Given the description of an element on the screen output the (x, y) to click on. 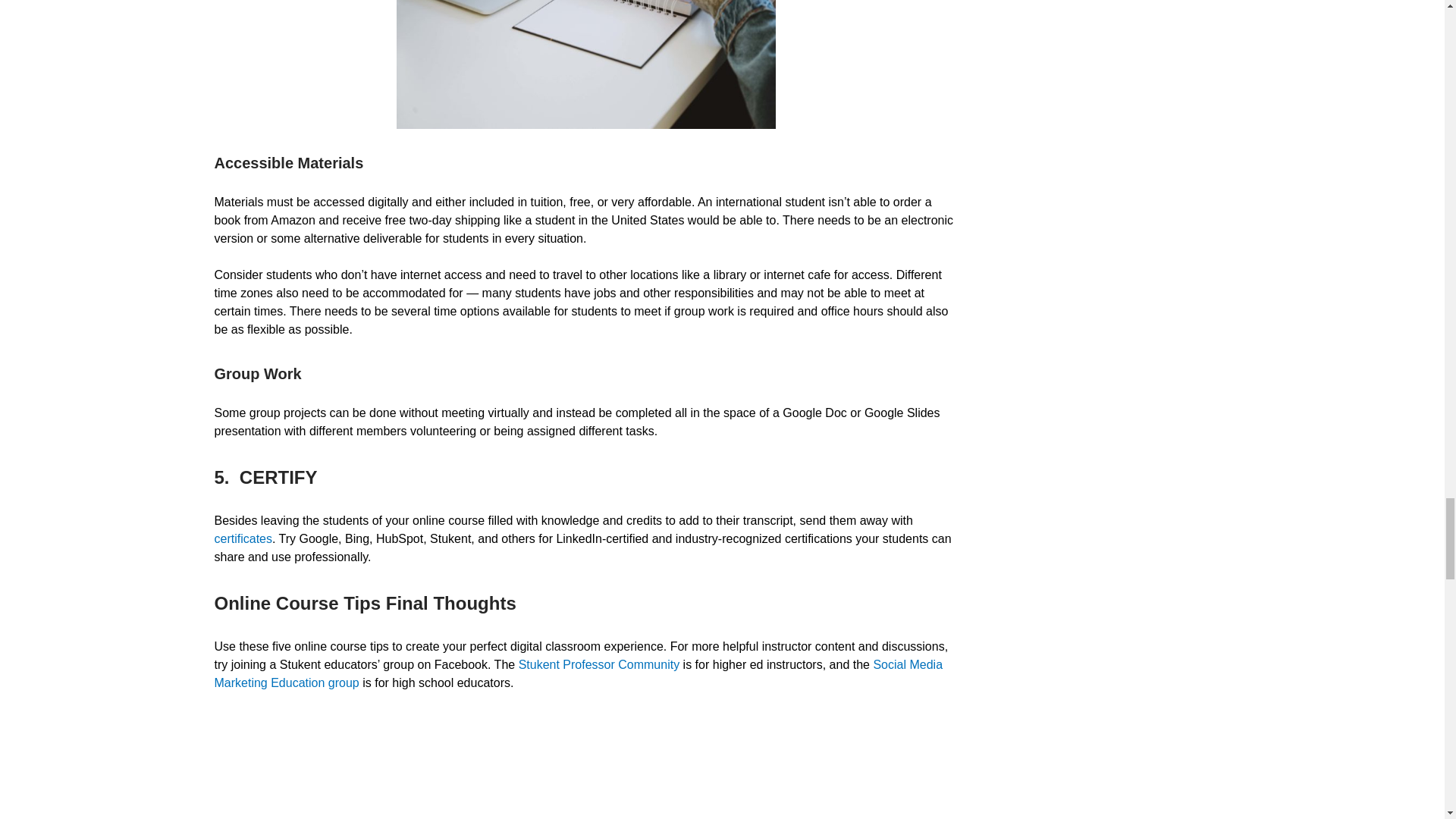
certificates (242, 538)
Social Media Marketing Education group (578, 673)
Stukent Professor Community (598, 664)
